Given the description of an element on the screen output the (x, y) to click on. 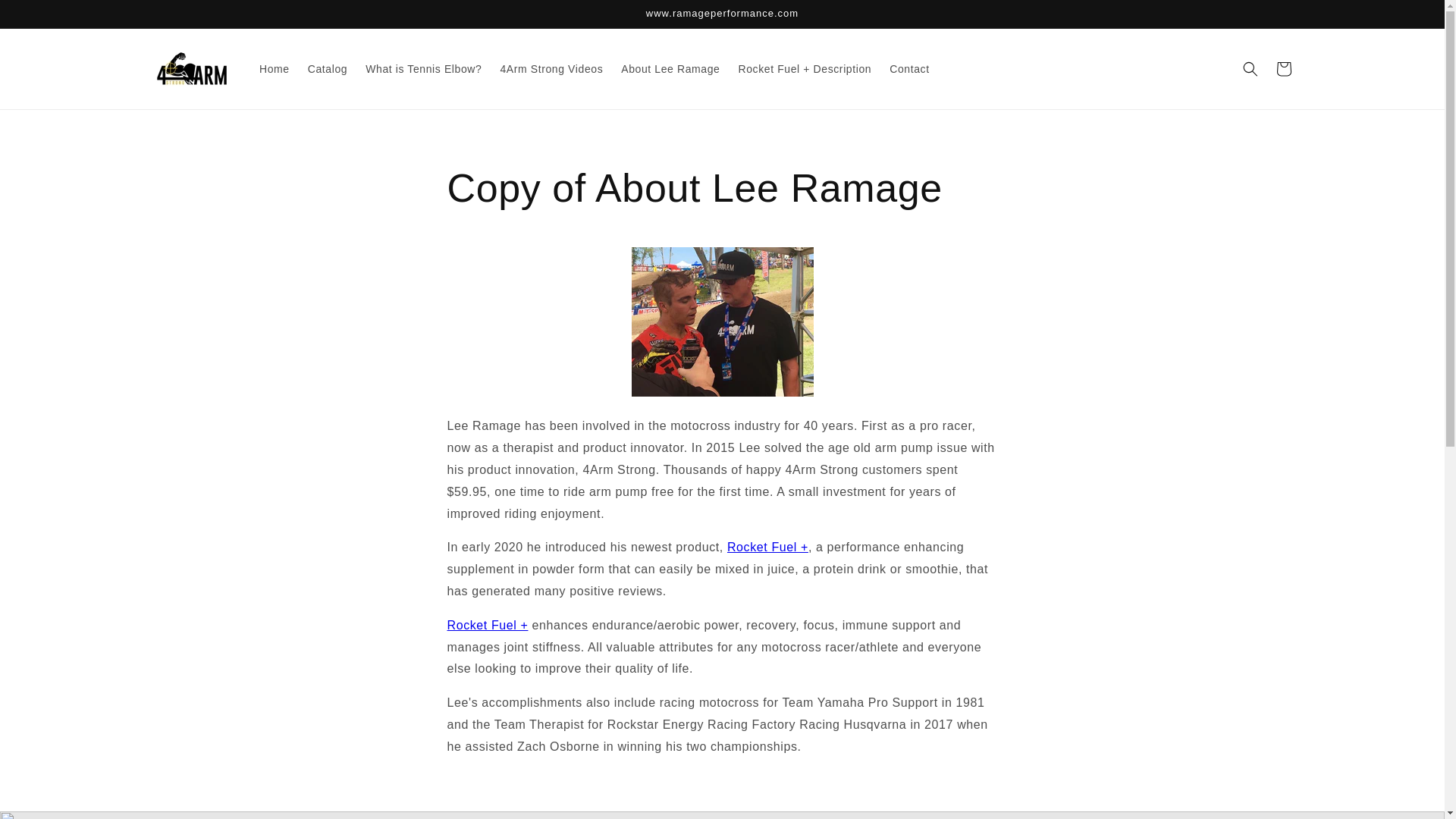
What is Tennis Elbow? (423, 69)
Contact (908, 69)
Home (274, 69)
4Arm Strong Videos (550, 69)
Cart (1283, 68)
About Lee Ramage (670, 69)
Skip to content (45, 16)
Catalog (327, 69)
